Given the description of an element on the screen output the (x, y) to click on. 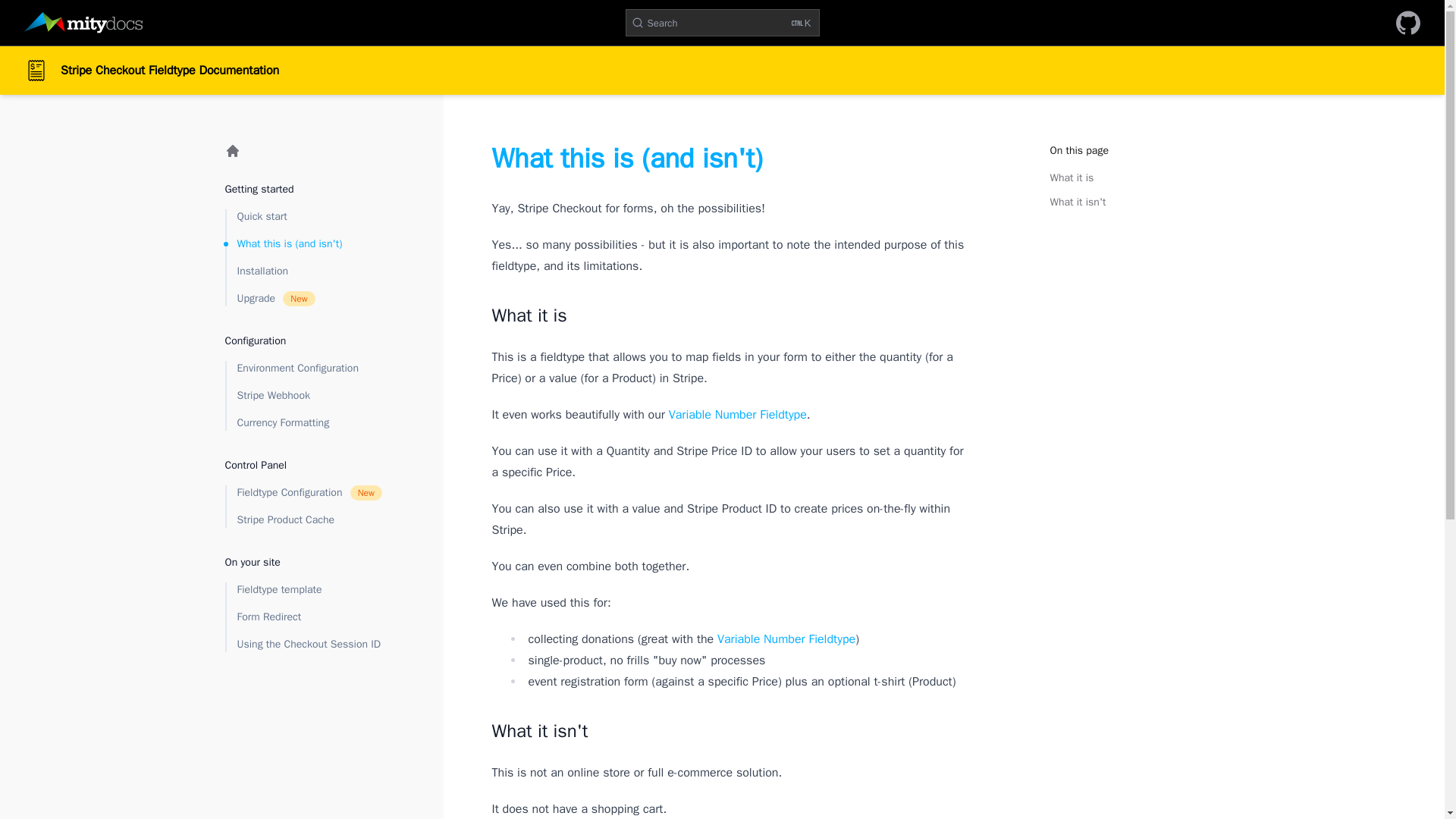
Environment Configuration (309, 368)
What it is (1071, 177)
Installation (309, 492)
Currency Formatting (309, 271)
Stripe Product Cache (309, 422)
Variable Number Fieldtype (309, 519)
Stripe Checkout Fieldtype documentation home (721, 22)
View on Github (737, 414)
